Given the description of an element on the screen output the (x, y) to click on. 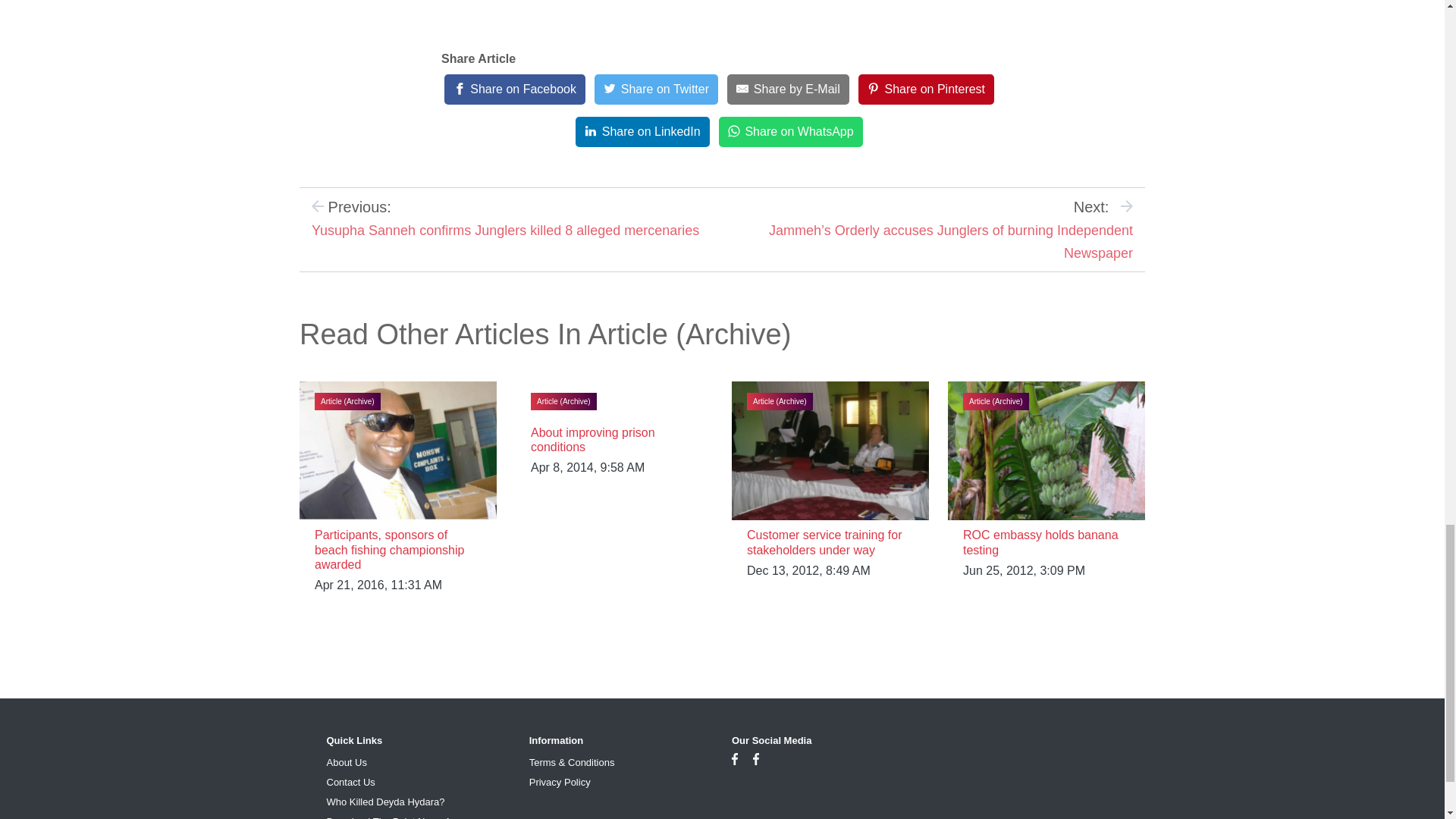
Customer service training for stakeholders under way (824, 542)
Participants, sponsors of beach fishing championship awarded (389, 549)
Share on Facebook (514, 89)
Share on Twitter (655, 89)
Share on LinkedIn (642, 132)
Share by E-Mail (787, 89)
Share on WhatsApp (791, 132)
Share on Pinterest (926, 89)
About improving prison conditions (593, 439)
